Given the description of an element on the screen output the (x, y) to click on. 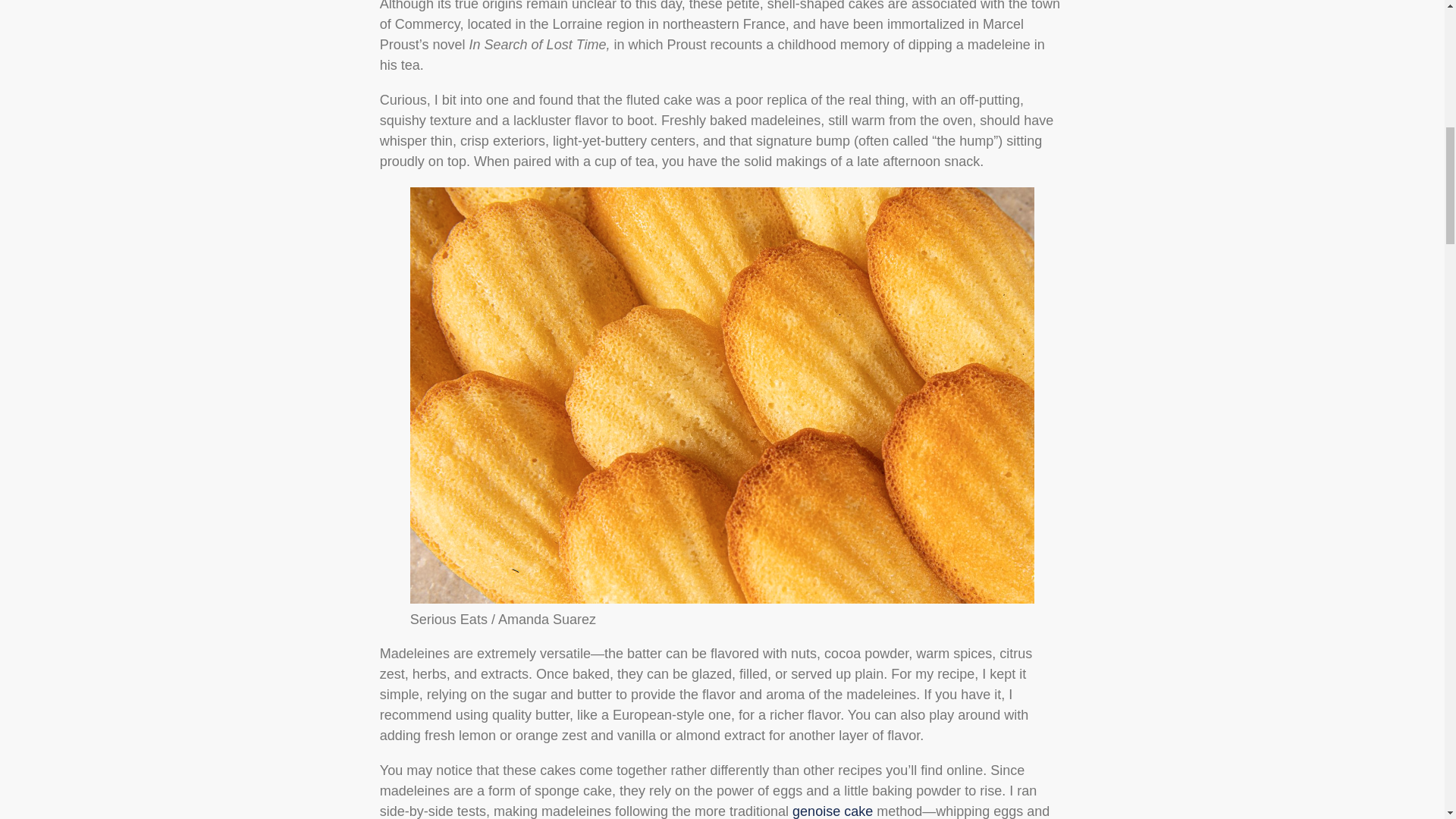
genoise cake (832, 811)
